Given the description of an element on the screen output the (x, y) to click on. 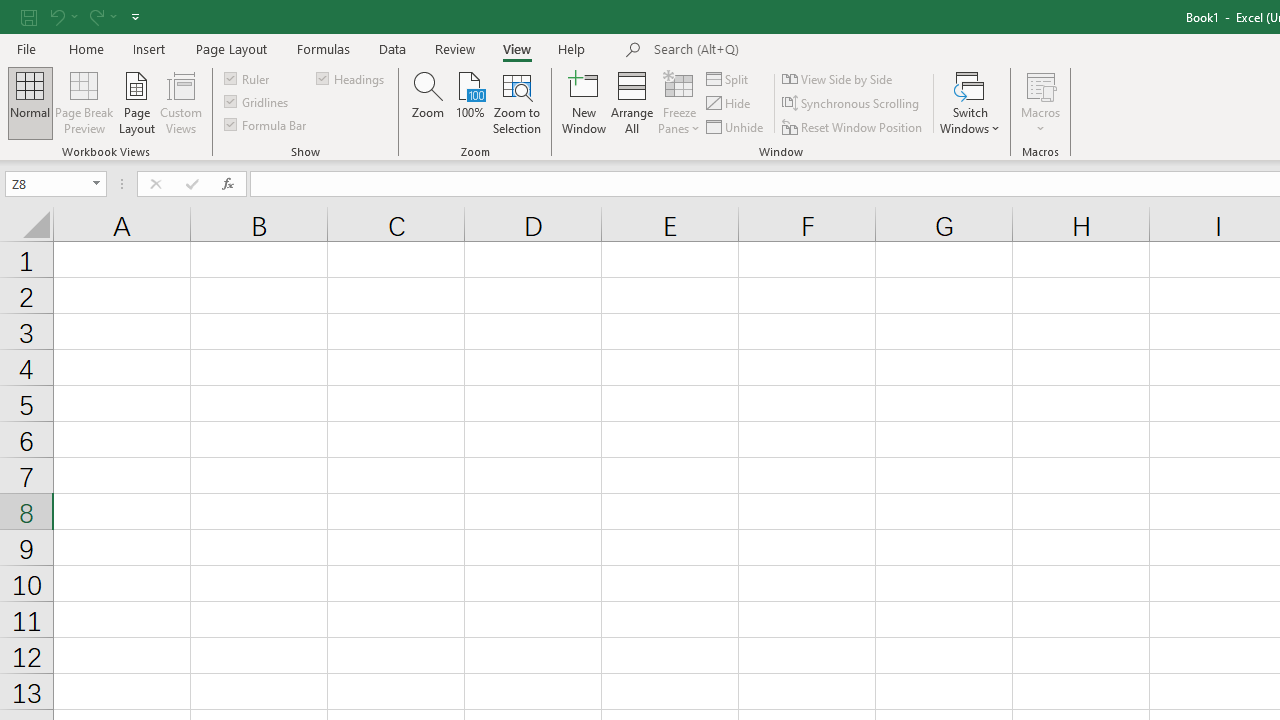
Headings (351, 78)
View Side by Side (838, 78)
Synchronous Scrolling (852, 103)
Freeze Panes (678, 102)
Unhide... (736, 126)
Zoom to Selection (517, 102)
Hide (729, 103)
Ruler (248, 78)
Reset Window Position (854, 126)
